Given the description of an element on the screen output the (x, y) to click on. 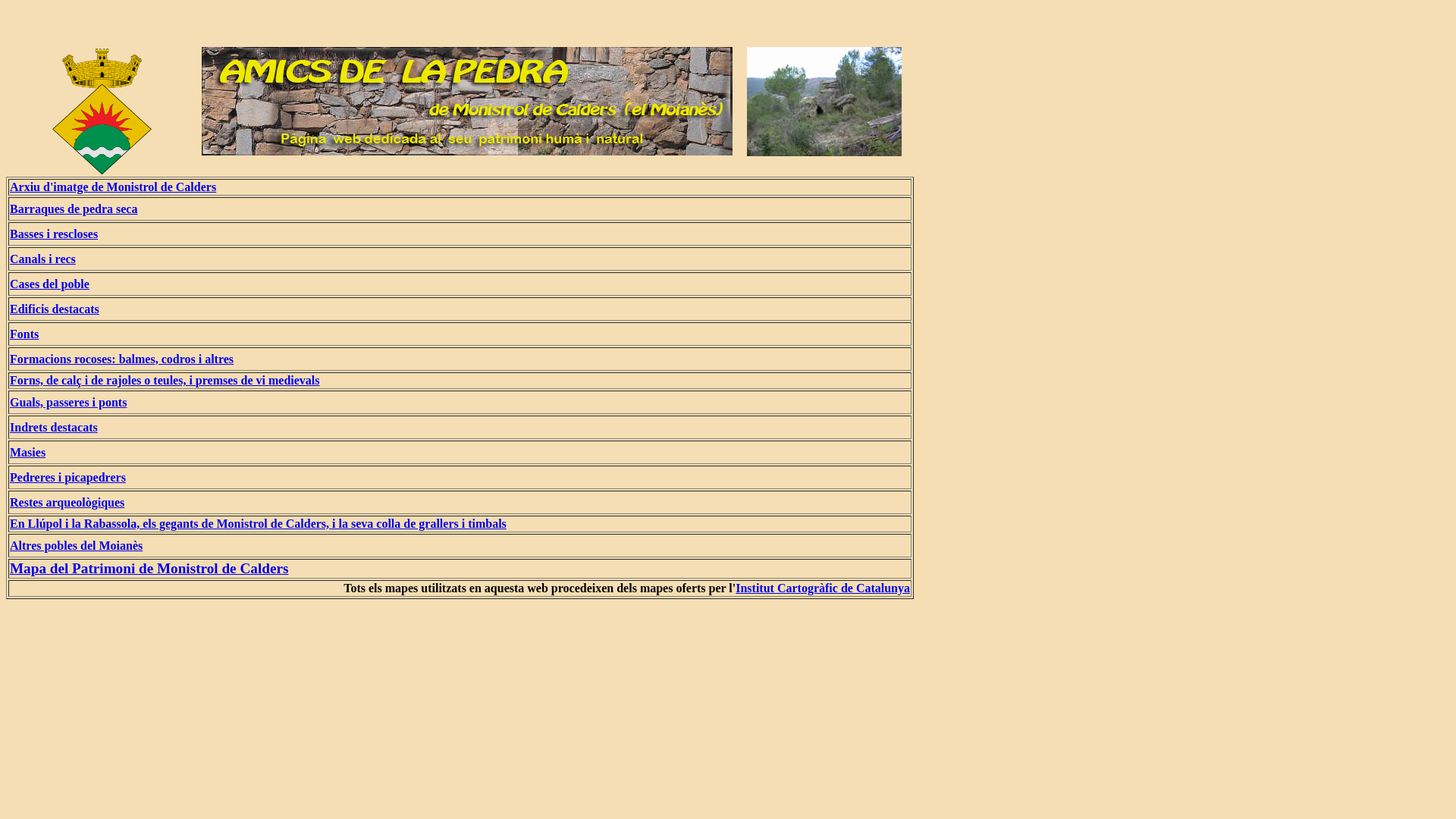
Edificis destacats Element type: text (54, 307)
For Element type: text (18, 380)
Masies Element type: text (27, 451)
Barraques de pedra seca Element type: text (73, 207)
Arxiu d'imatge de Monistrol de Calders Element type: text (112, 186)
Canals i recs Element type: text (42, 257)
Fonts Element type: text (23, 333)
Formacions rocoses: balmes, codros i altres Element type: text (121, 357)
Guals, passeres i ponts Element type: text (67, 401)
Cases del poble Element type: text (49, 283)
Mapa del Patrimoni de Monistrol de Calders Element type: text (148, 568)
Indrets destacats Element type: text (53, 426)
Basses i rescloses Element type: text (53, 233)
Pedreres i picapedrers Element type: text (67, 476)
